Given the description of an element on the screen output the (x, y) to click on. 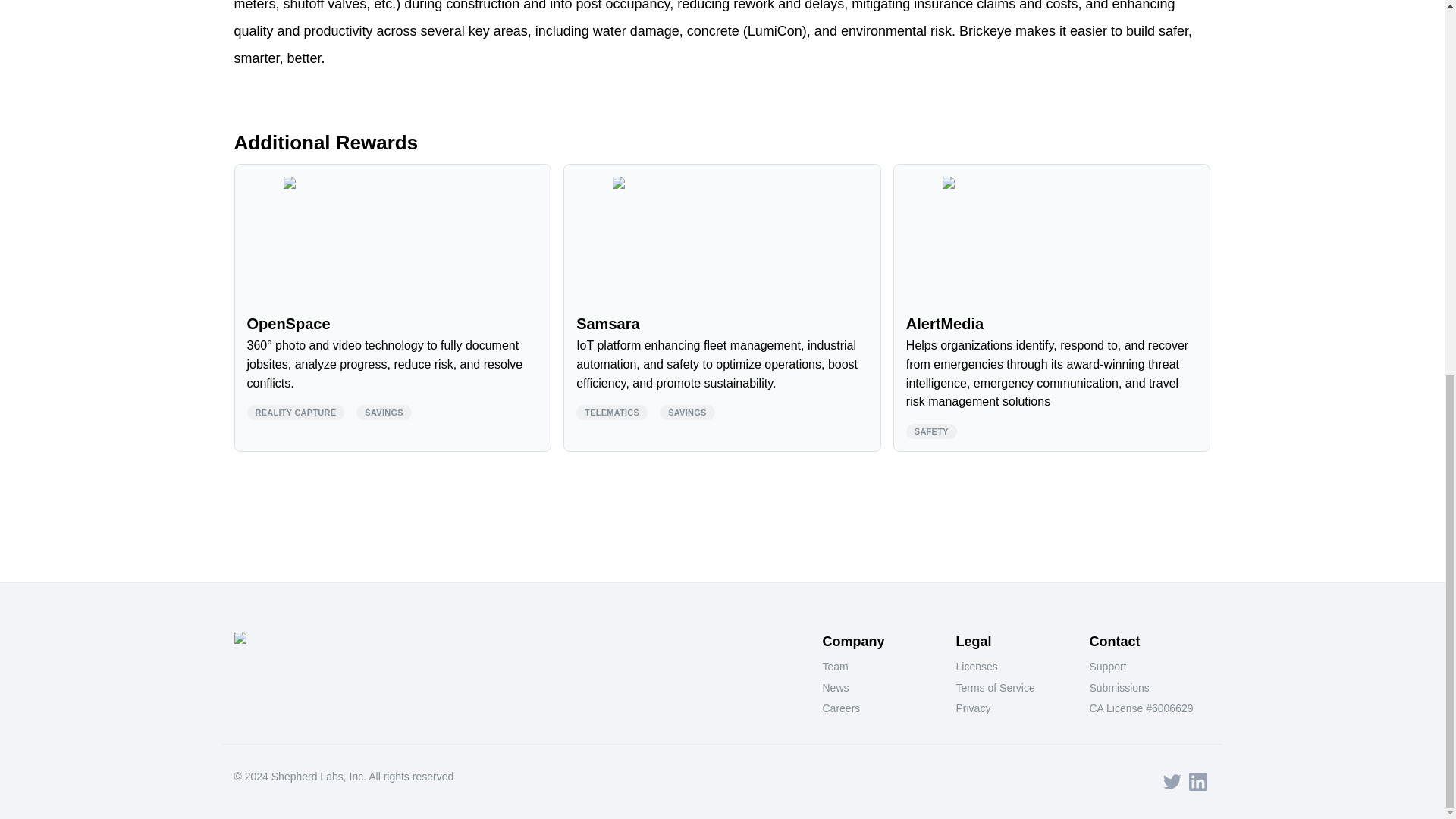
Careers (882, 708)
Licenses (1016, 667)
News (882, 688)
Terms of Service (1016, 688)
Team (882, 667)
